Given the description of an element on the screen output the (x, y) to click on. 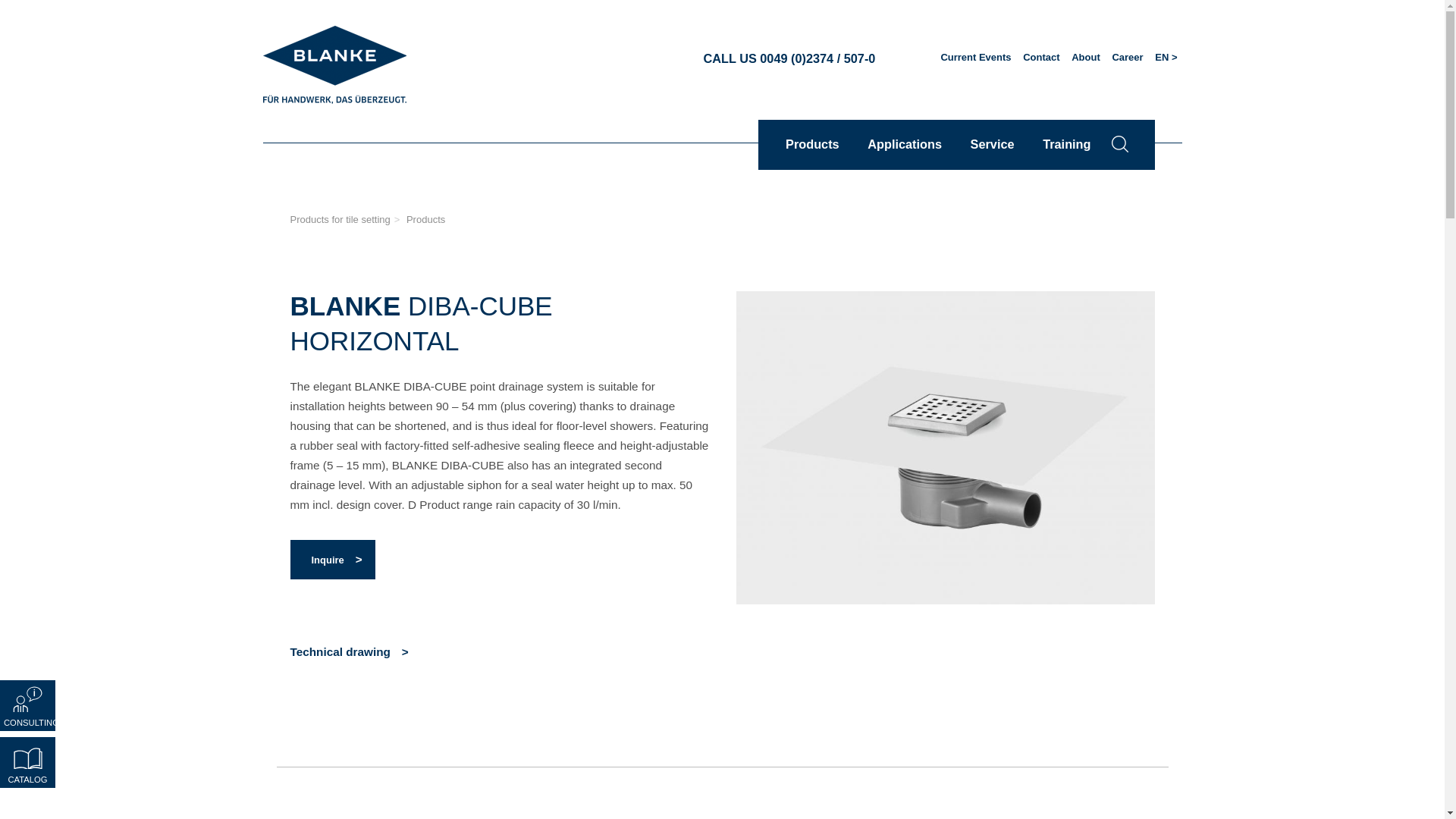
Career (1126, 56)
Technical drawing (348, 651)
Training (1066, 143)
Applications (904, 143)
Inquire (331, 559)
Products (425, 219)
Products (812, 143)
Service (992, 143)
Current Events (975, 56)
Home (334, 64)
Products for tile setting (339, 219)
Contact (1040, 56)
About (1086, 56)
